Given the description of an element on the screen output the (x, y) to click on. 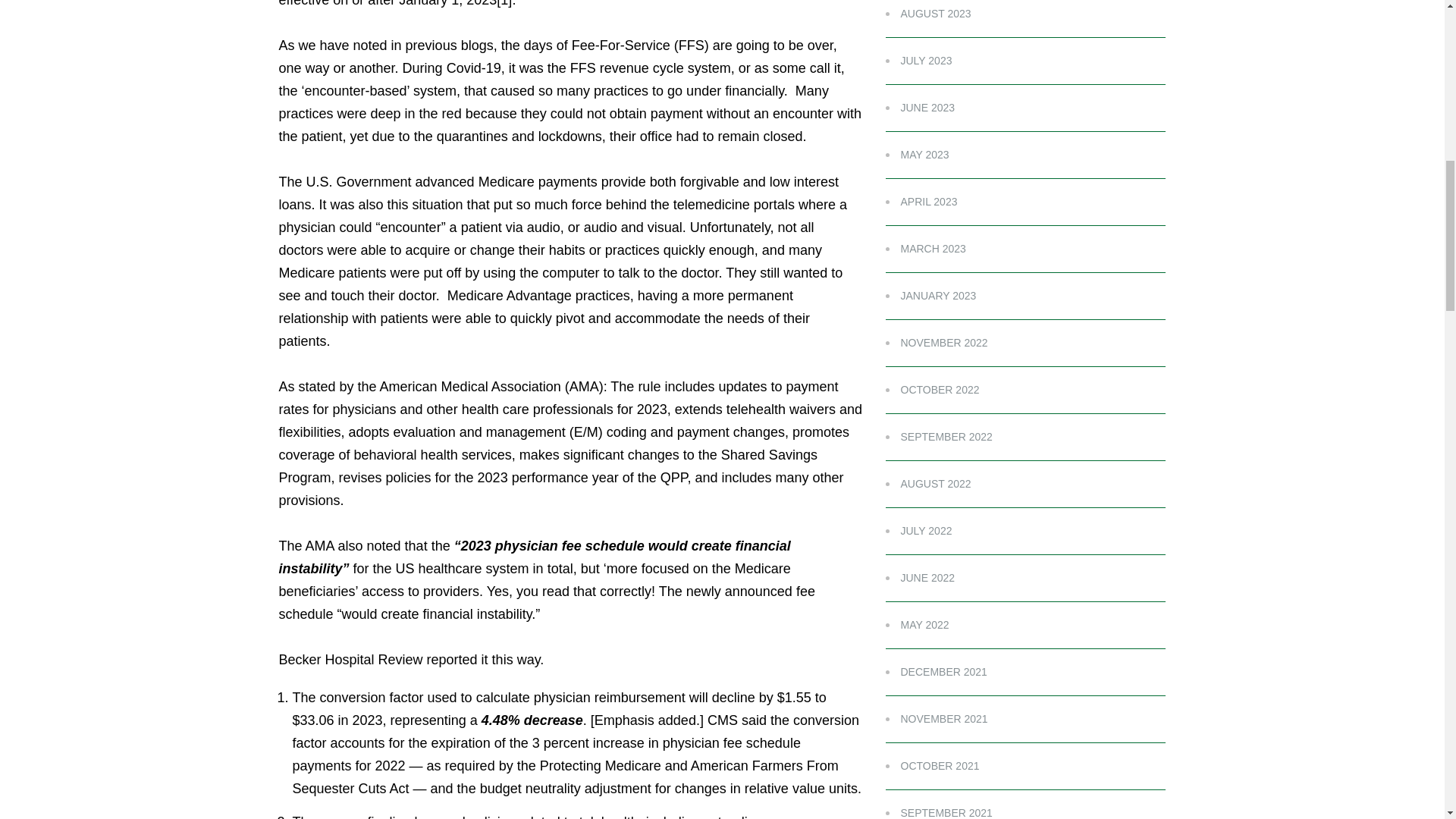
MAY 2023 (917, 154)
AUGUST 2023 (928, 13)
JULY 2023 (918, 60)
APRIL 2023 (921, 201)
JUNE 2023 (920, 107)
